Given the description of an element on the screen output the (x, y) to click on. 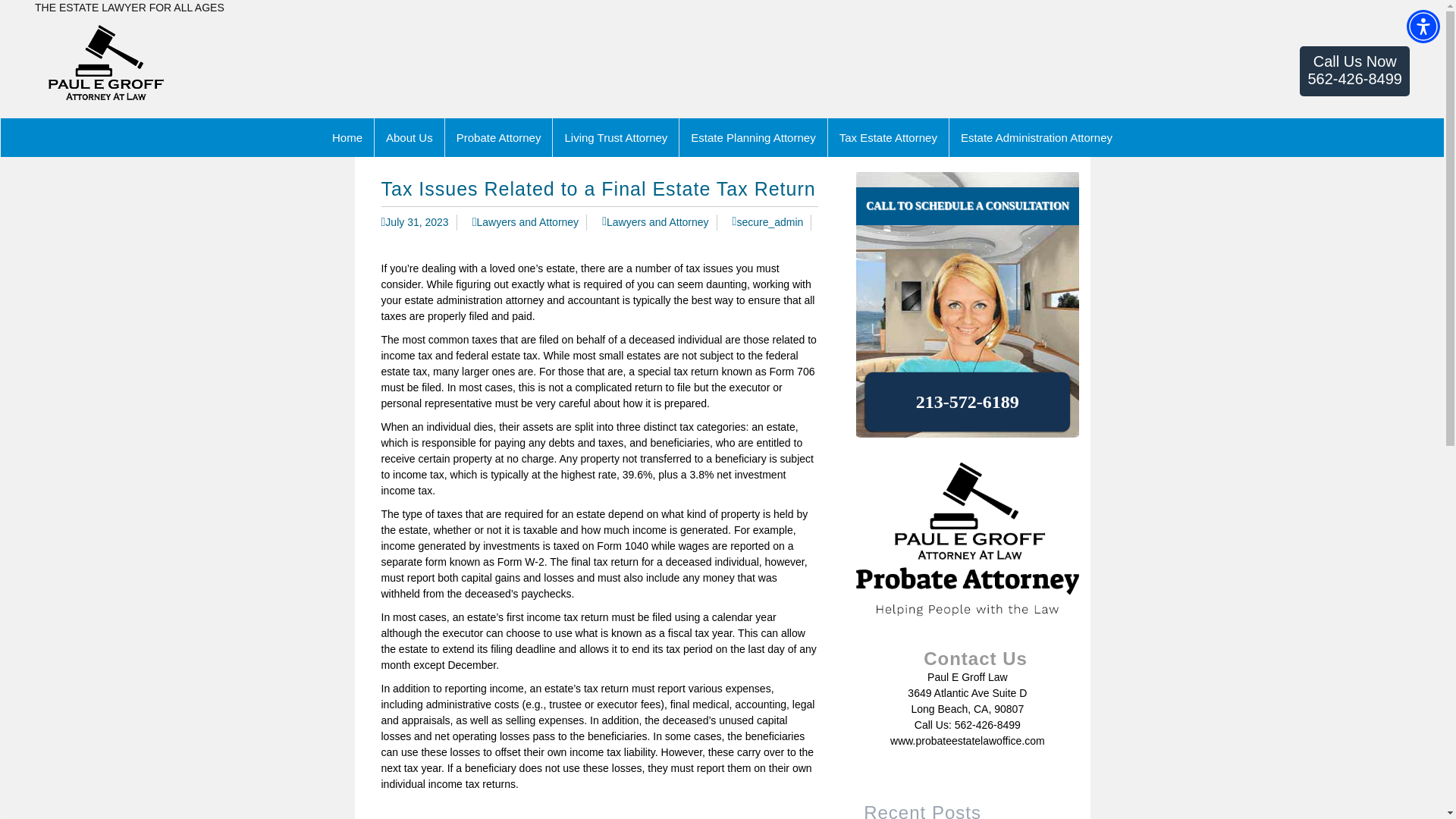
Lawyers and Attorney (654, 222)
Permalink to Tax Issues Related to a Final Estate Tax Return (414, 222)
Probate Attorney (499, 137)
Living Trust Attorney (616, 137)
Home (347, 137)
Estate Planning Attorney (753, 137)
Accessibility Menu (1422, 26)
About Us (409, 137)
July 31, 2023 (414, 222)
Lawyers and Attorney (524, 222)
Tax Estate Attorney (888, 137)
Estate Administration Attorney (1354, 70)
